Given the description of an element on the screen output the (x, y) to click on. 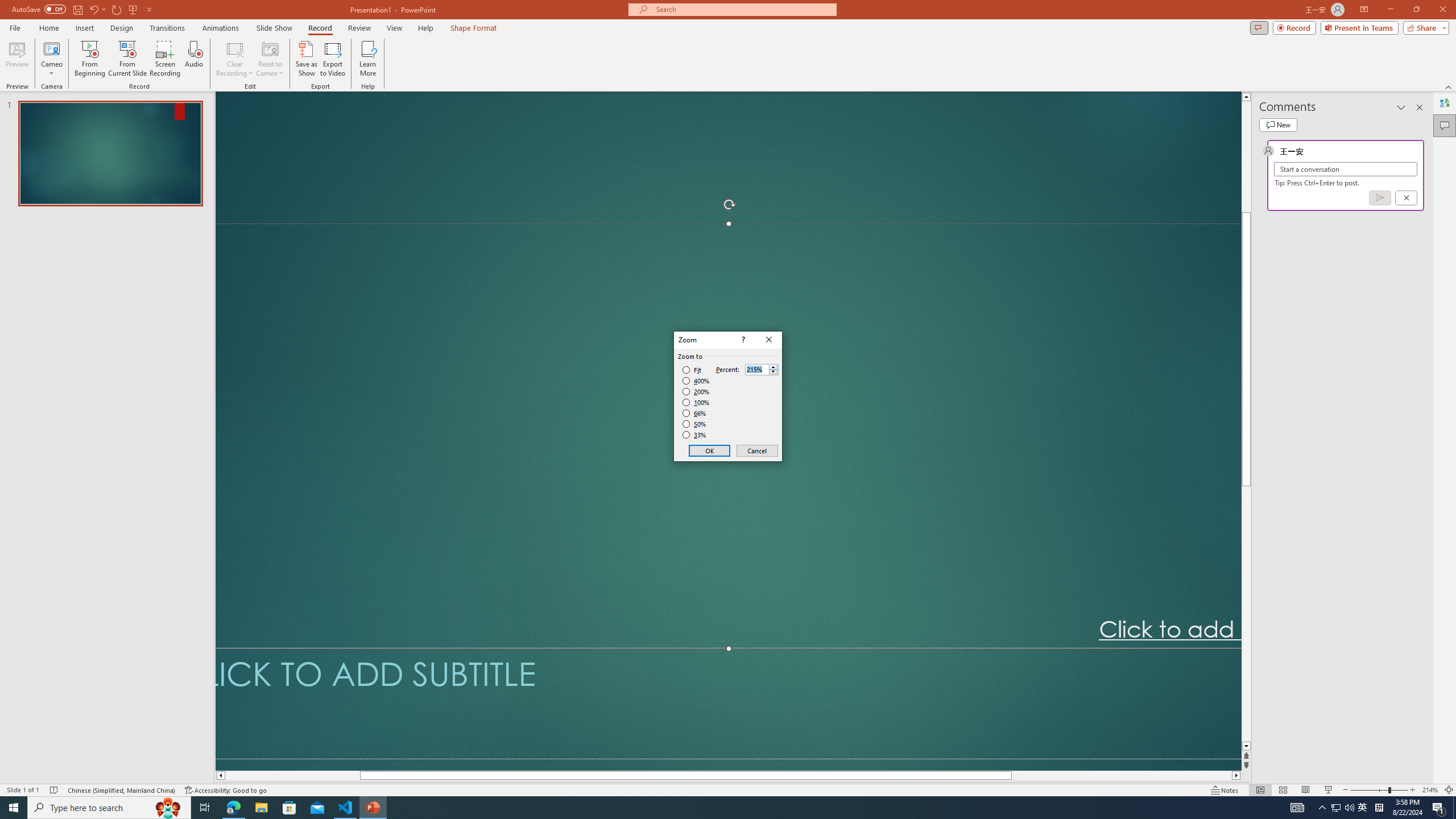
More (772, 366)
Accessibility Checker Accessibility: Good to go (226, 790)
Shape Format (473, 28)
Save as Show (306, 58)
